Given the description of an element on the screen output the (x, y) to click on. 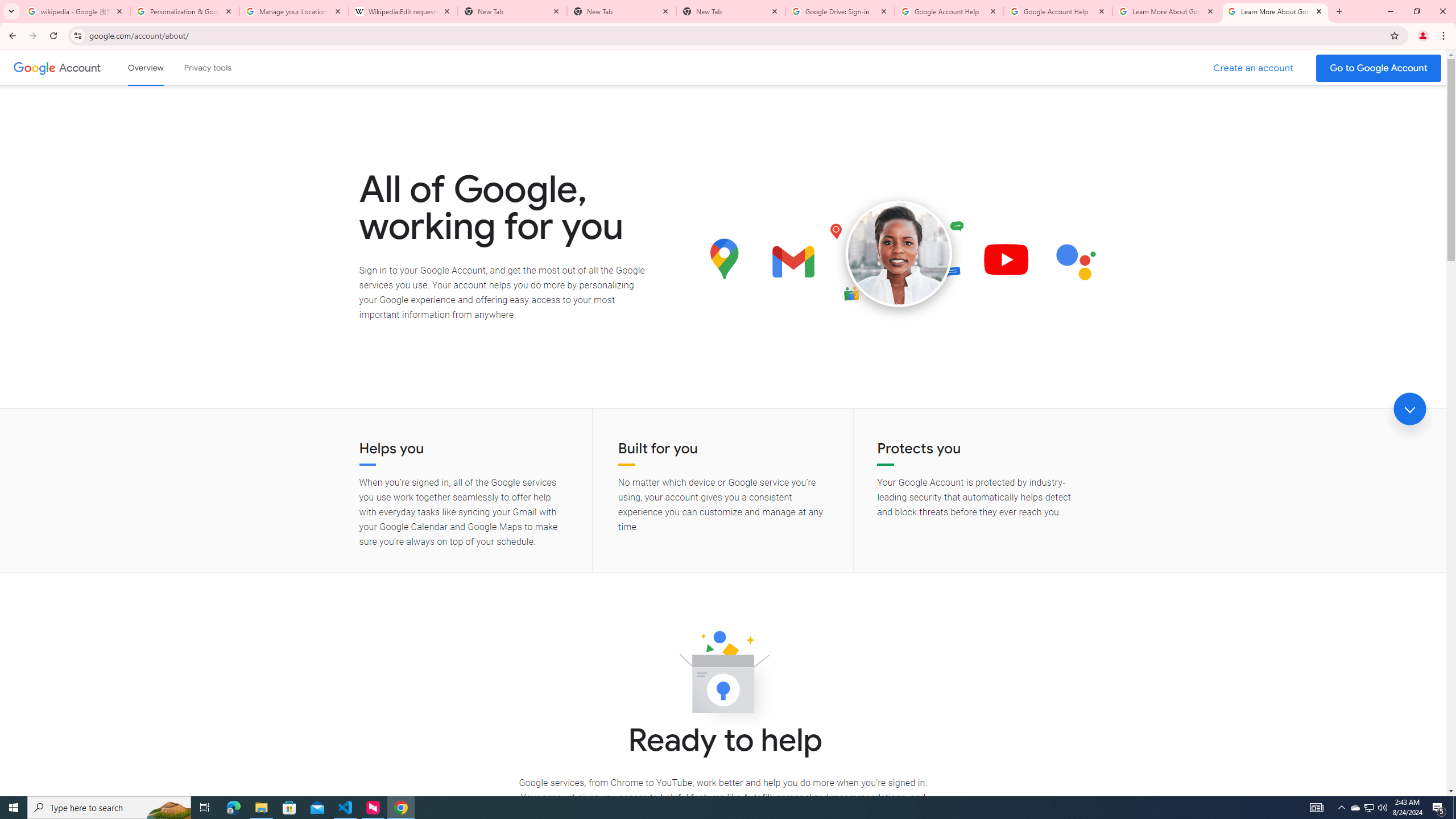
Manage your Location History - Google Search Help (293, 11)
Personalization & Google Search results - Google Search Help (184, 11)
Google Account Help (949, 11)
